Given the description of an element on the screen output the (x, y) to click on. 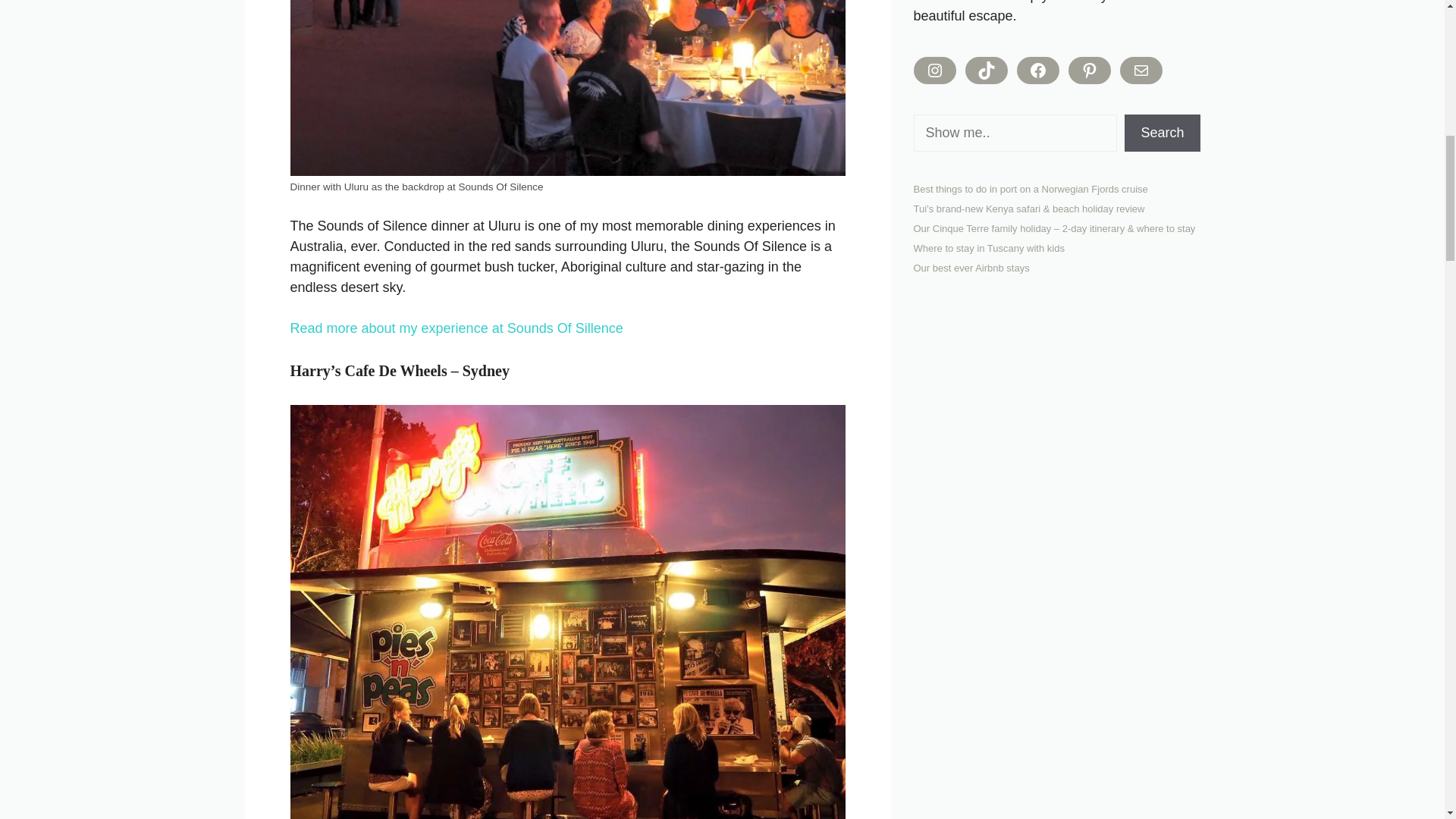
Read more about my experience at Sounds Of Sillence (456, 328)
